Given the description of an element on the screen output the (x, y) to click on. 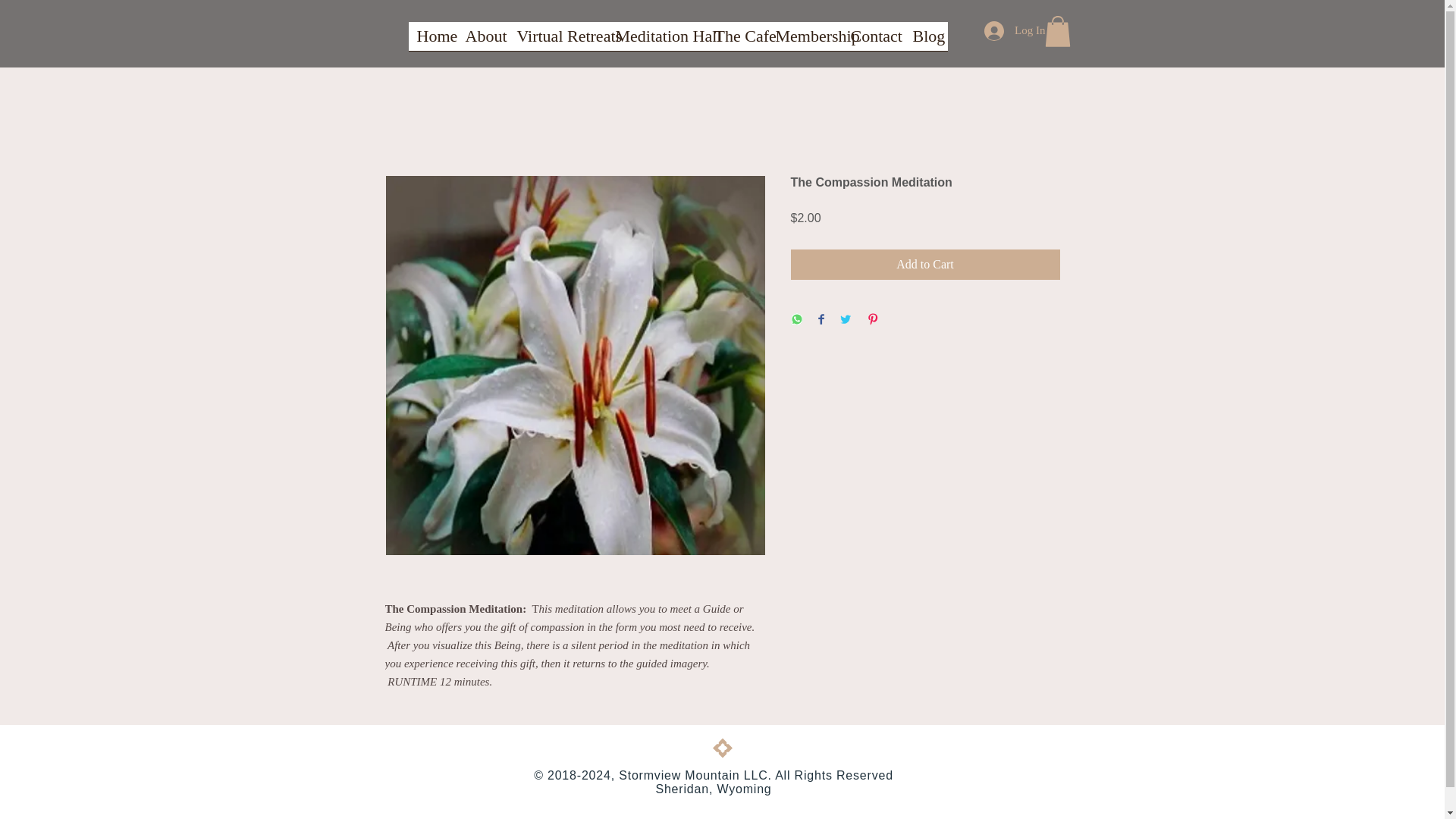
About (482, 41)
Add to Cart (924, 264)
Home (432, 41)
Blog (925, 41)
Meditation Hall (656, 41)
Membership (805, 41)
The Cafe (736, 41)
Virtual Retreats (557, 41)
Contact (872, 41)
Log In (1014, 30)
